Given the description of an element on the screen output the (x, y) to click on. 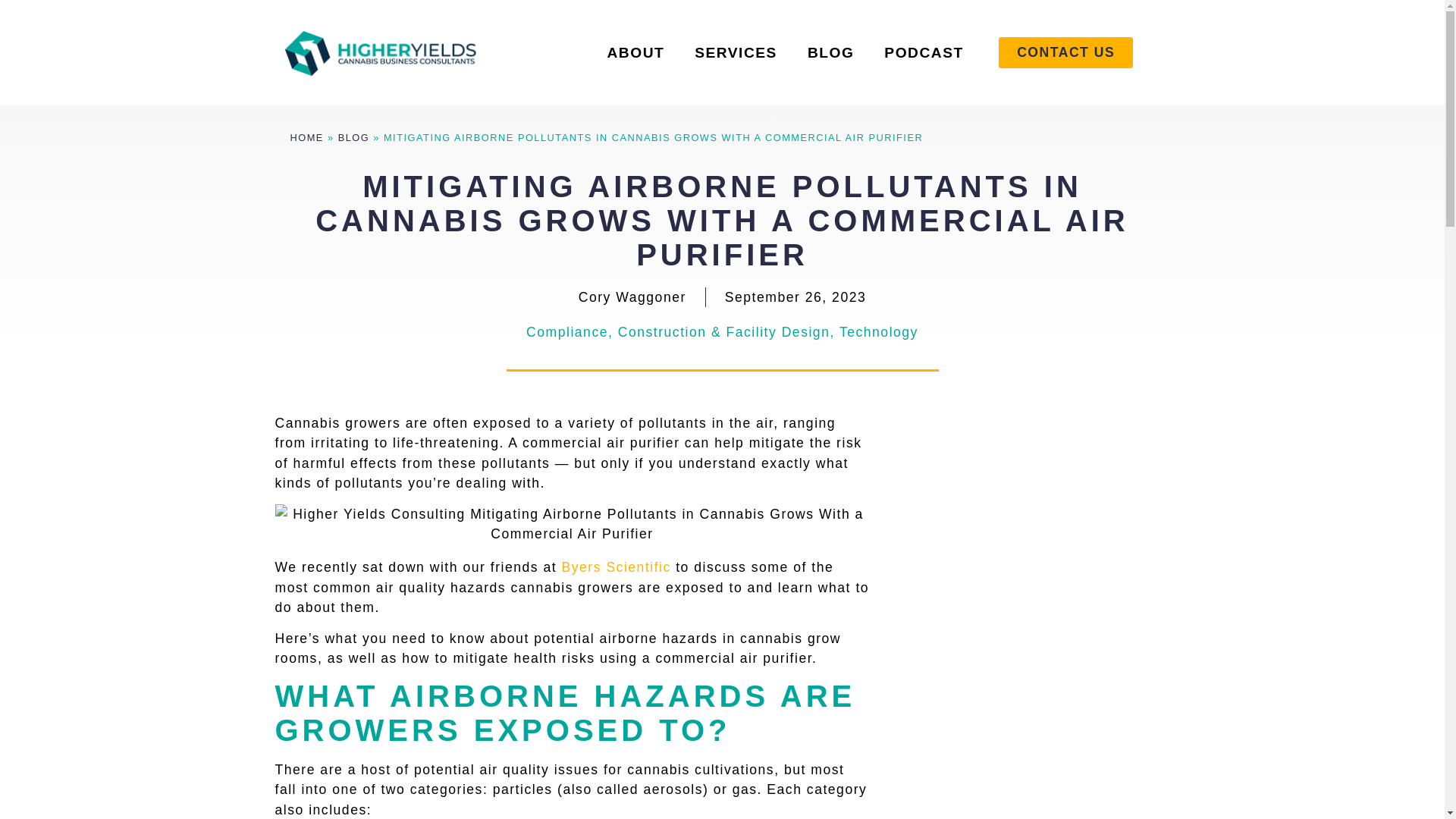
SERVICES (735, 53)
BLOG (830, 53)
ABOUT (635, 53)
PODCAST (923, 53)
